Given the description of an element on the screen output the (x, y) to click on. 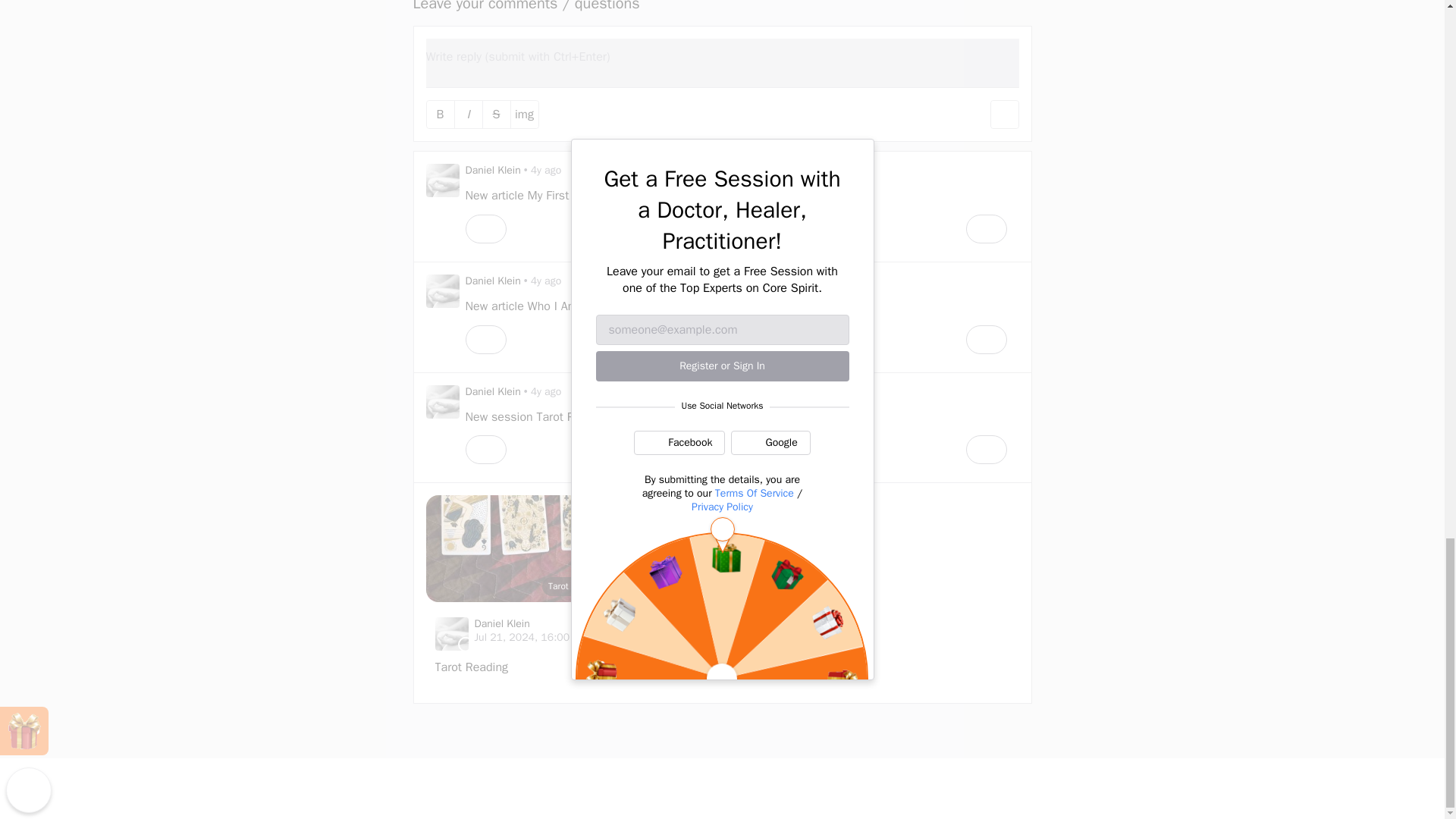
B (439, 113)
S (495, 113)
Read it now (765, 195)
Daniel Klein (493, 169)
I (467, 113)
img (524, 113)
